Given the description of an element on the screen output the (x, y) to click on. 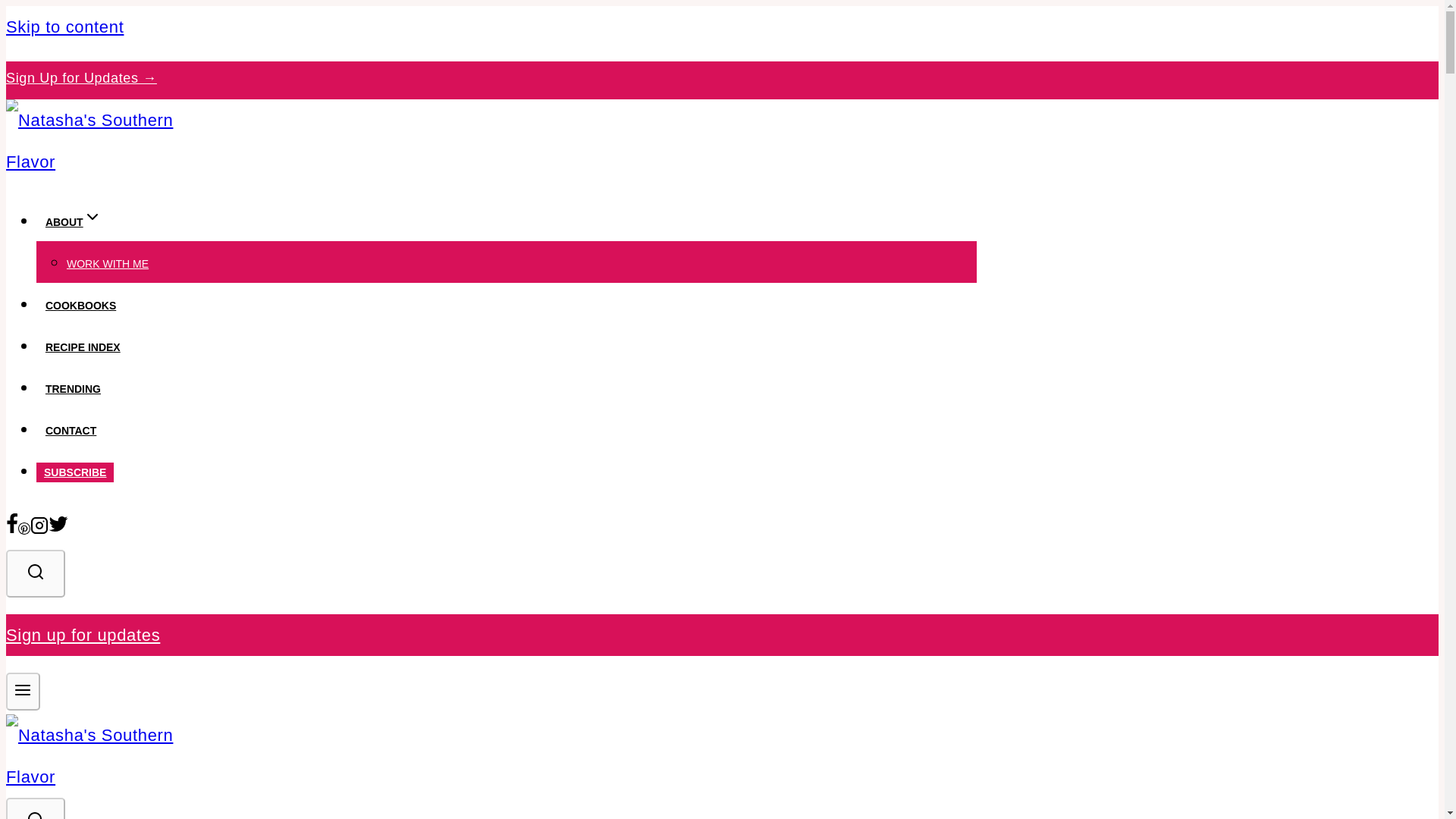
Facebook (11, 528)
ABOUTEXPAND (73, 222)
Skip to content (64, 26)
SEARCH (35, 808)
EXPAND (91, 217)
RECIPE INDEX (82, 346)
Twitter (58, 528)
TRENDING (73, 388)
WORK WITH ME (107, 263)
Sign up for updates (82, 634)
SEARCH (35, 571)
Instagram (39, 528)
Instagram (39, 525)
SEARCH (35, 814)
TOGGLE MENU (22, 691)
